Given the description of an element on the screen output the (x, y) to click on. 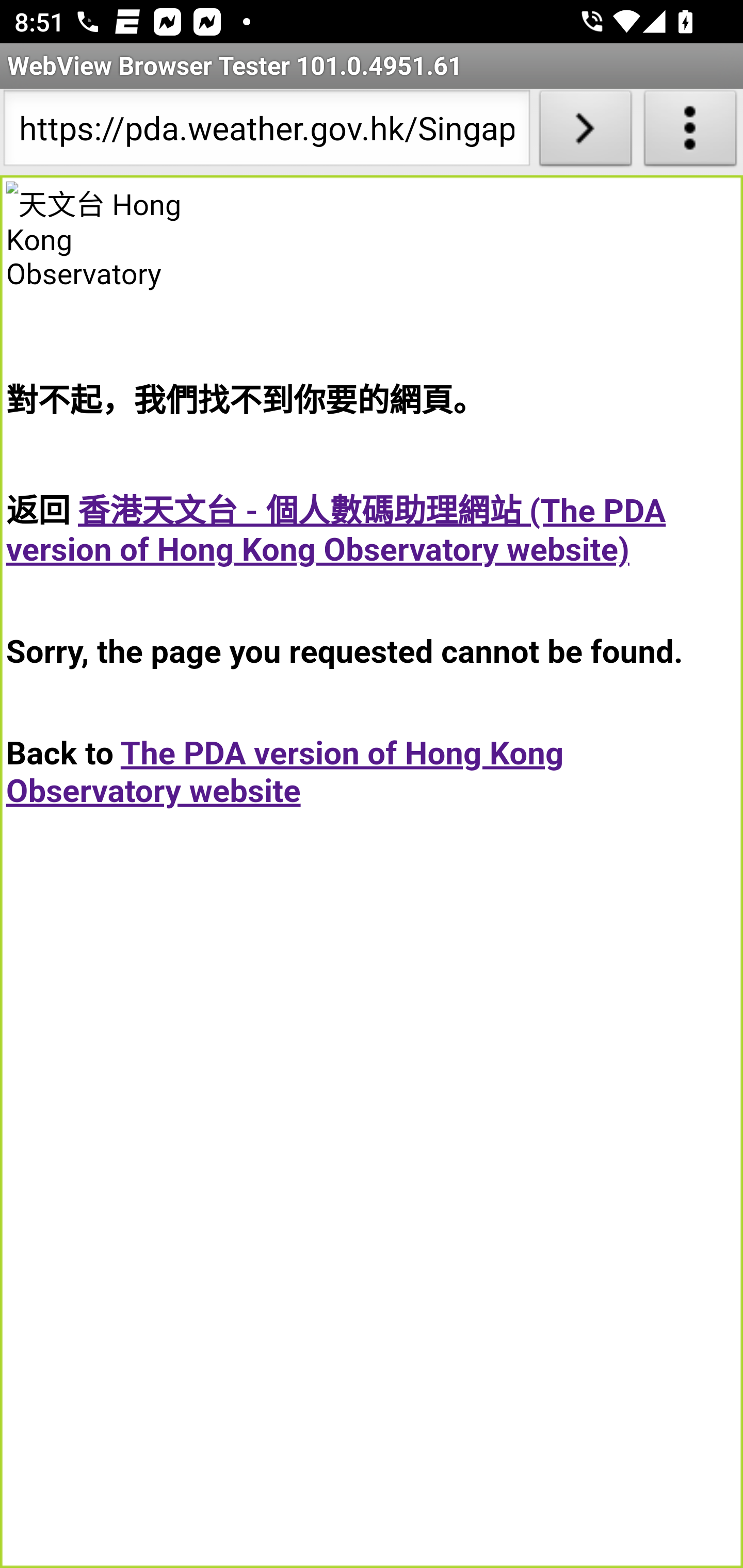
https://pda.weather.gov.hk/Singapore (266, 132)
Load URL (585, 132)
About WebView (690, 132)
The PDA version of Hong Kong Observatory website (284, 771)
